Given the description of an element on the screen output the (x, y) to click on. 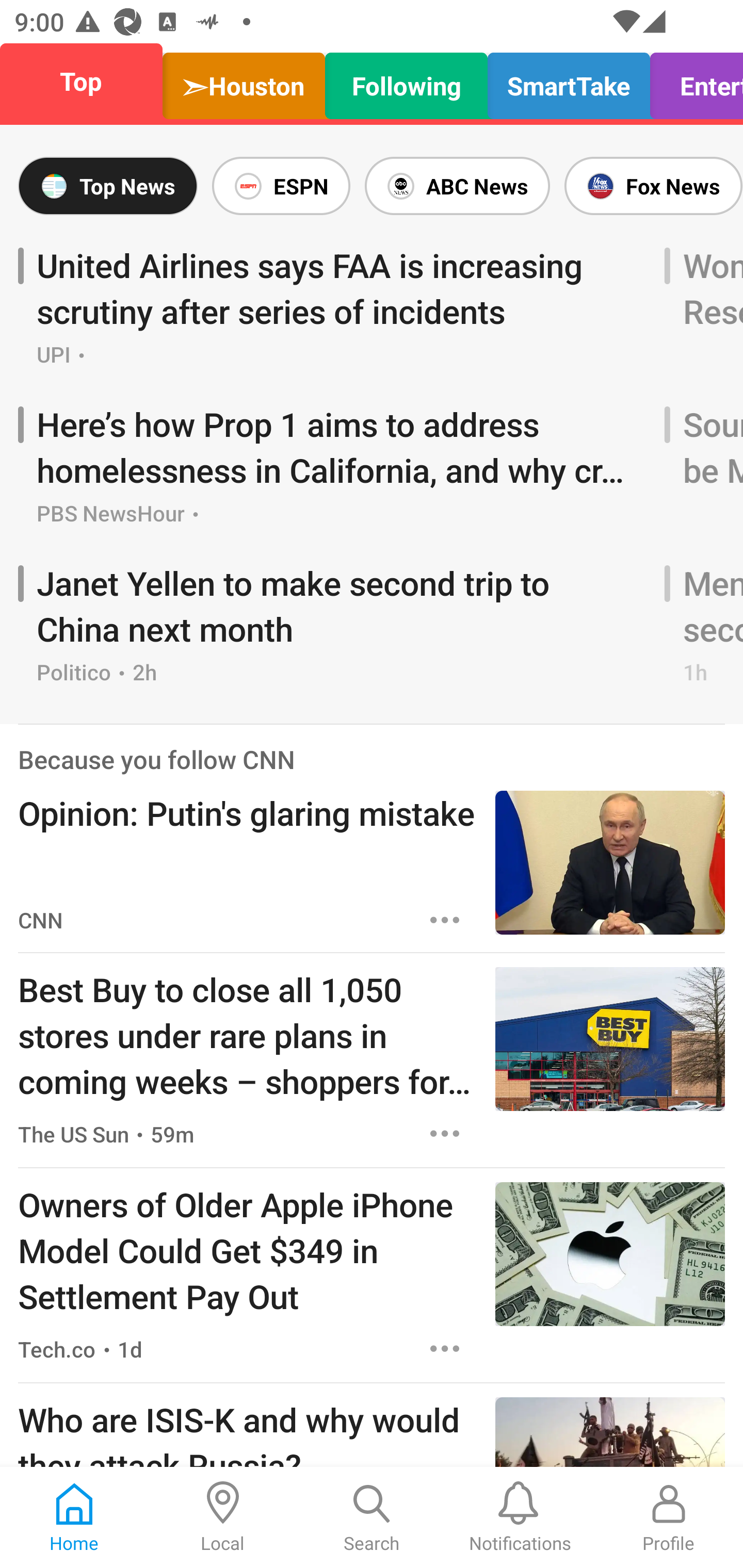
Top (86, 81)
➣Houston (243, 81)
Following (406, 81)
SmartTake (569, 81)
Entertain (690, 81)
ESPN (281, 185)
ABC News (457, 185)
Fox News (650, 185)
Because you follow CNN (155, 758)
Options (444, 920)
Options (444, 1133)
Options (444, 1348)
Local (222, 1517)
Search (371, 1517)
Notifications (519, 1517)
Profile (668, 1517)
